Given the description of an element on the screen output the (x, y) to click on. 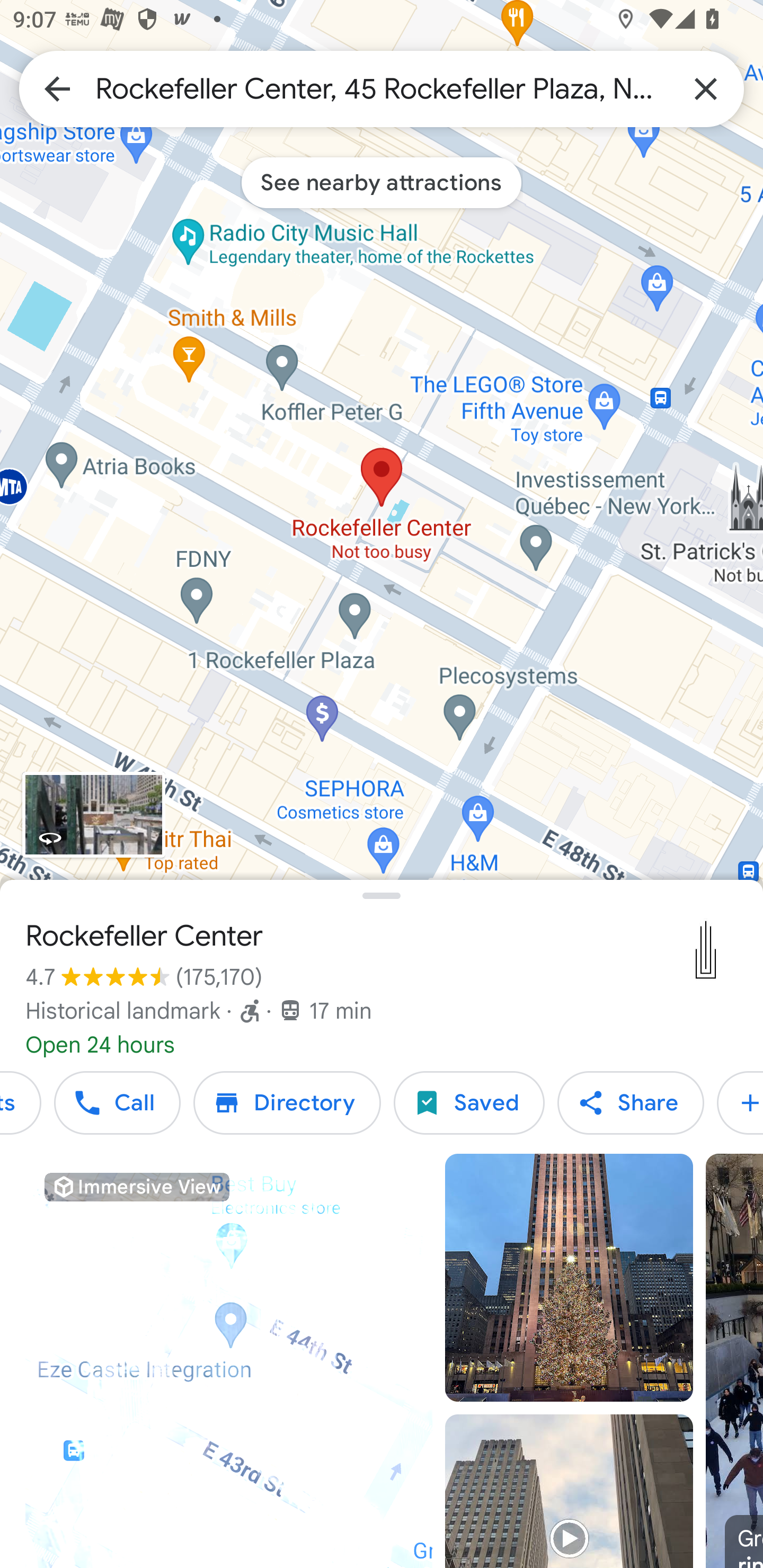
Back (57, 88)
Clear (705, 88)
See nearby attractions (381, 182)
View Street view imagery for Rockefeller Center (93, 814)
Directory Directory Directory (286, 1102)
Post Post Post (740, 1102)
Video Immersive View (228, 1361)
Photo (568, 1277)
Video (568, 1491)
